Given the description of an element on the screen output the (x, y) to click on. 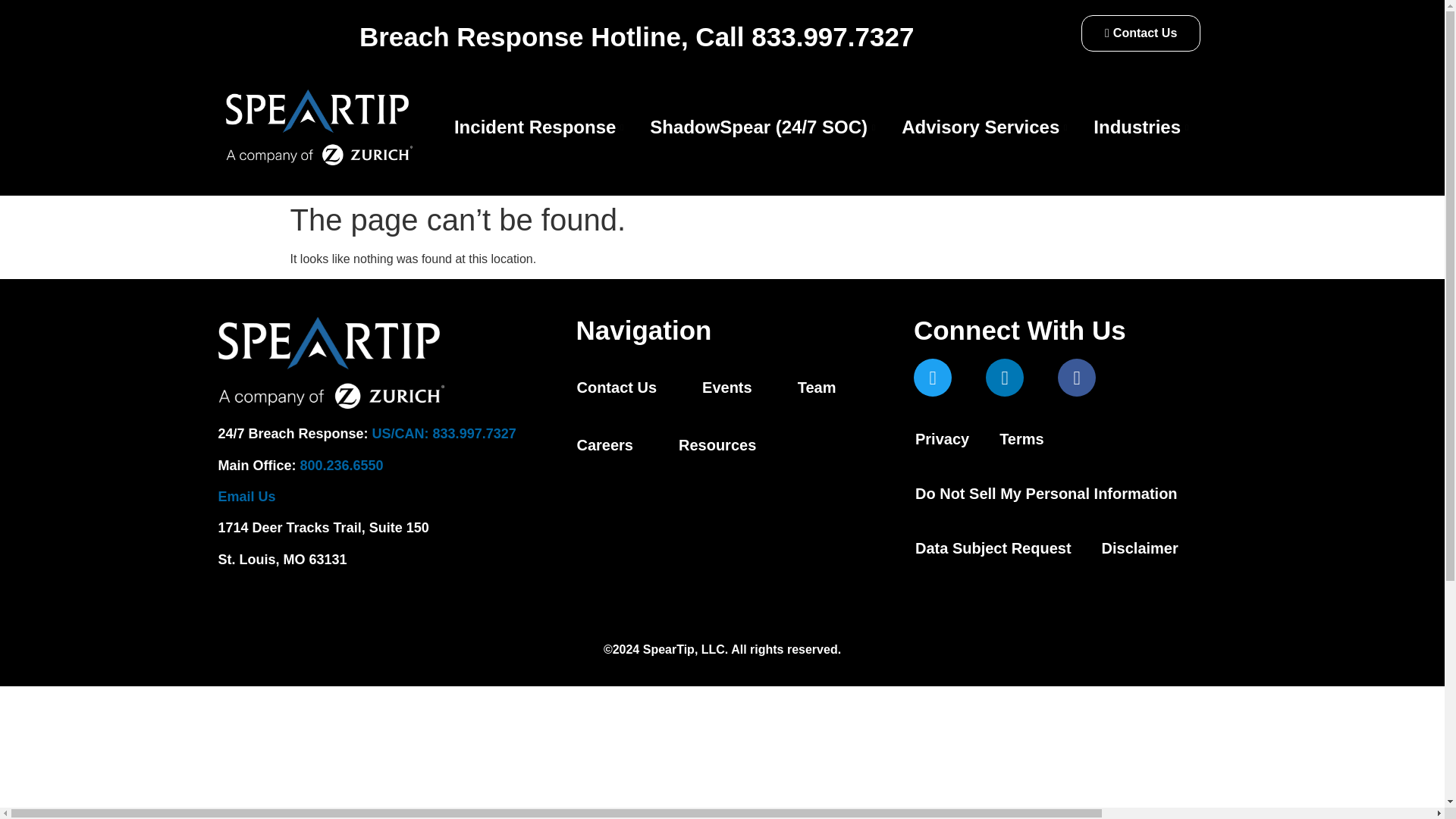
Incident Response (540, 127)
Breach Response Hotline, Call 833.997.7327 (636, 36)
Contact Us (1140, 33)
Advisory Services (985, 127)
